Given the description of an element on the screen output the (x, y) to click on. 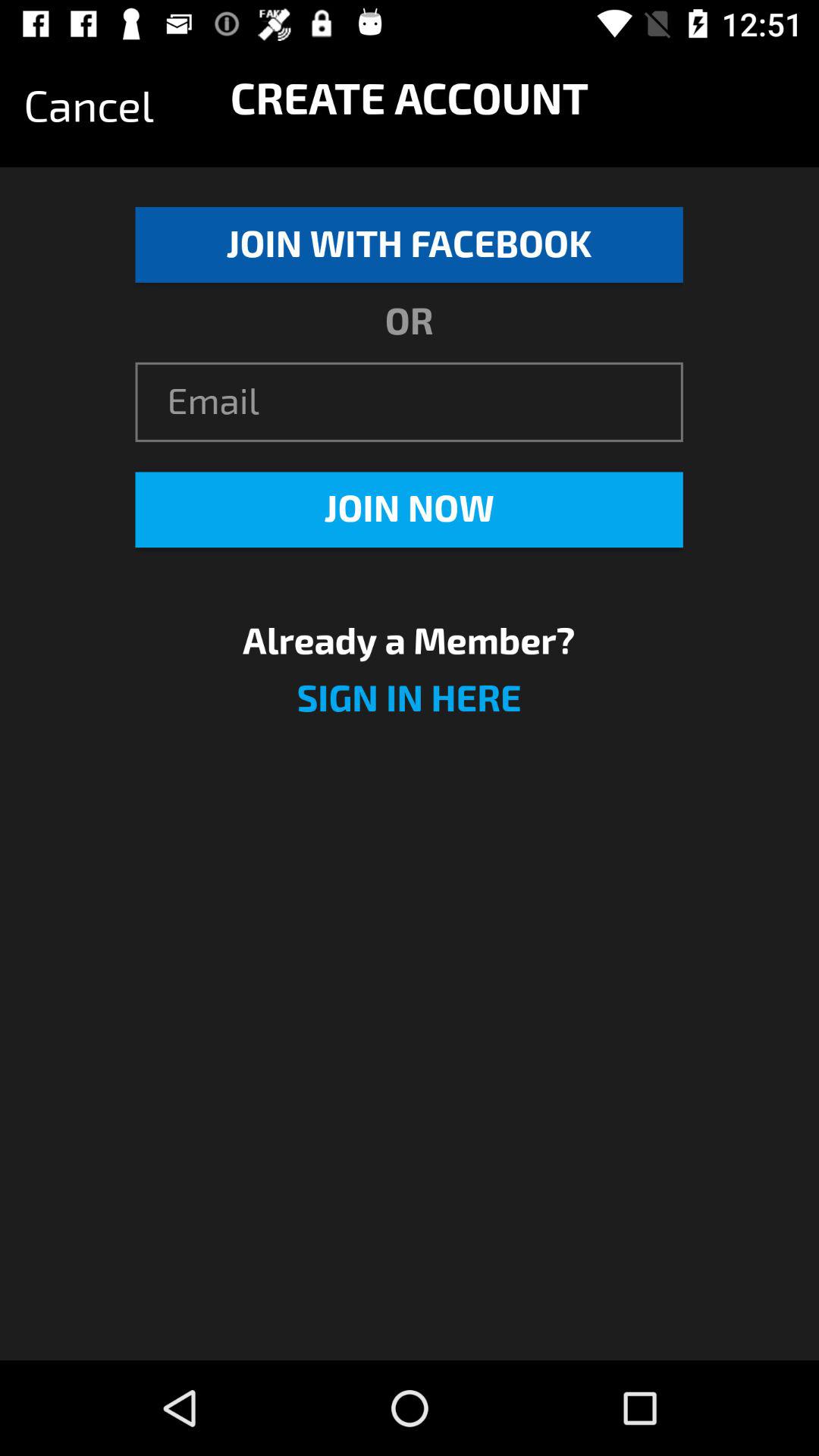
press the sign in here icon (408, 708)
